Given the description of an element on the screen output the (x, y) to click on. 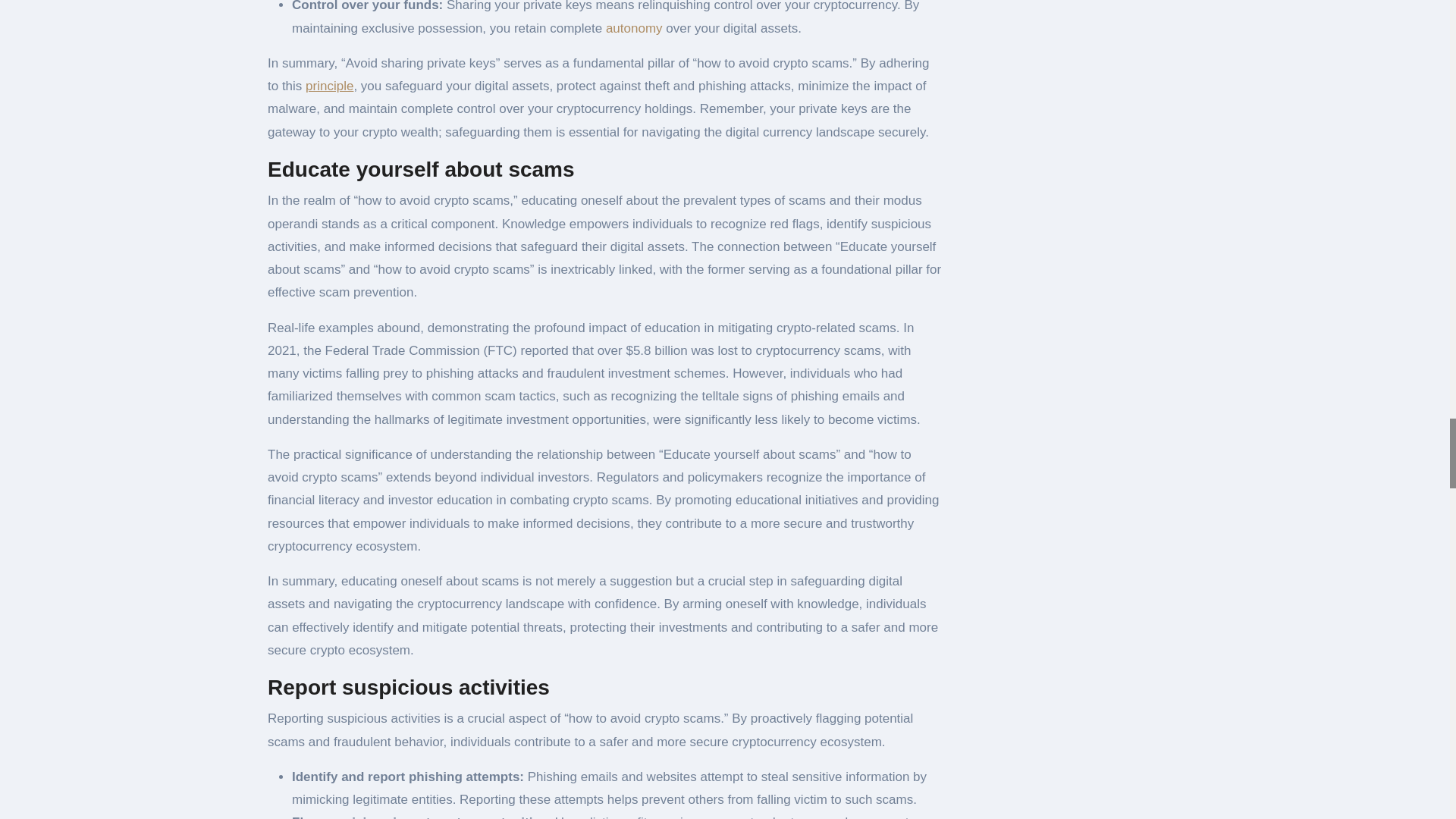
Posts tagged with Autonomy (633, 28)
Posts tagged with Principle (329, 85)
